Given the description of an element on the screen output the (x, y) to click on. 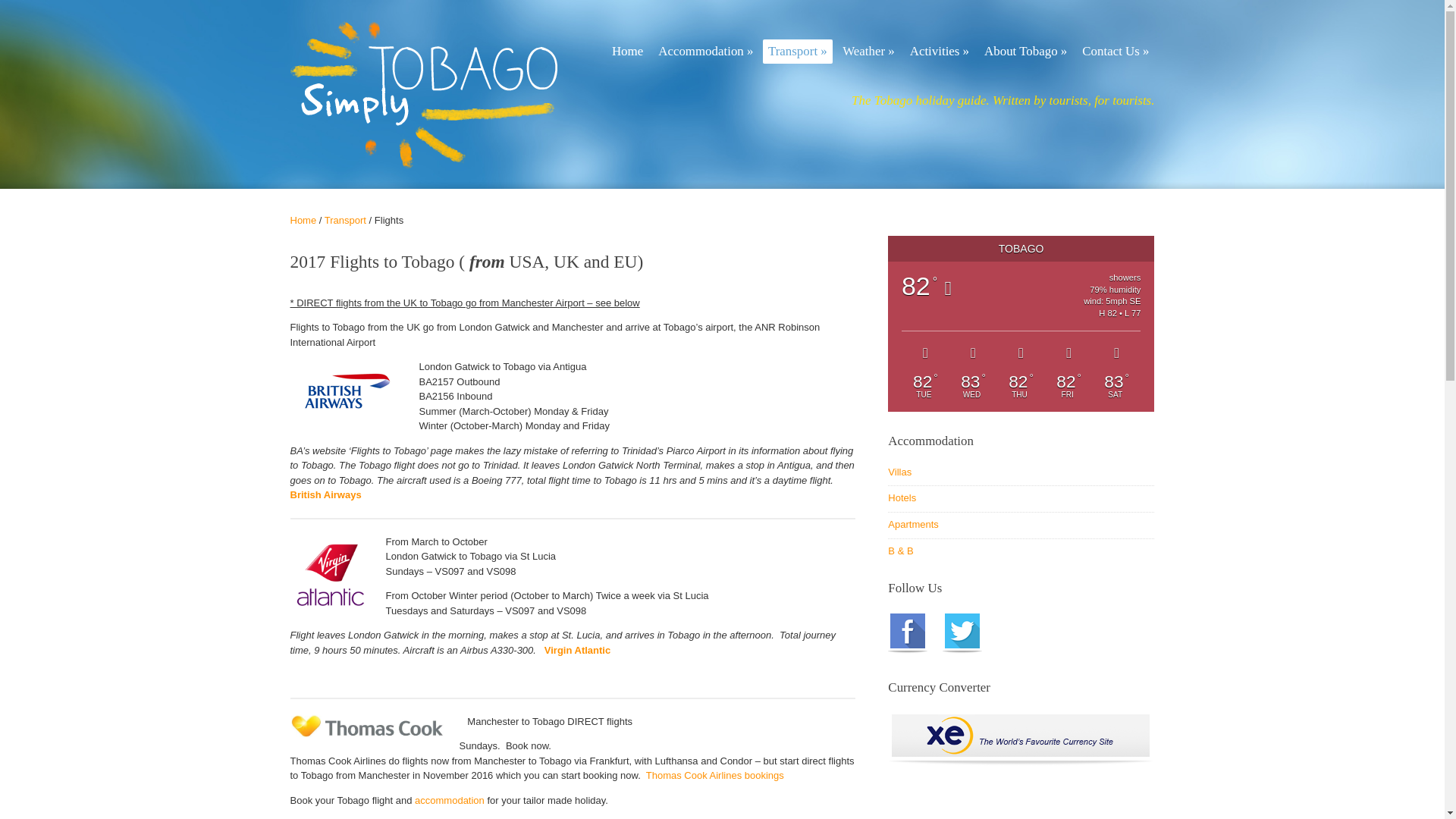
British Airways (325, 494)
British Airways Tobago Flights (325, 494)
Virgin Atlantic (578, 650)
Home (635, 55)
Transport (345, 220)
Virgin Atlantic (578, 650)
Transport (345, 220)
Simply Tobago (302, 220)
Thomas Cook Airlines bookings (715, 775)
